Given the description of an element on the screen output the (x, y) to click on. 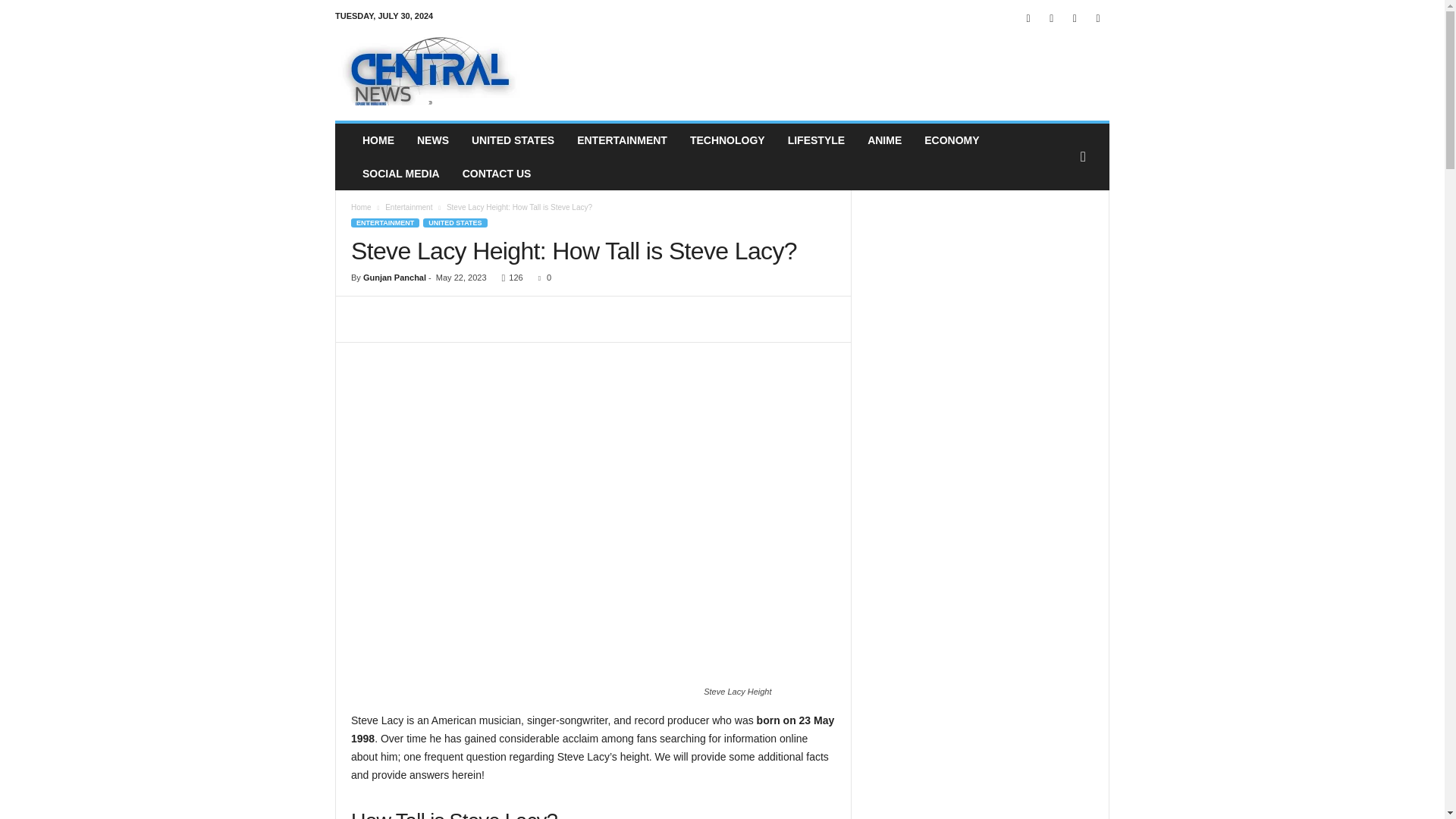
Centralfallout (437, 70)
Gunjan Panchal (394, 276)
NEWS (433, 140)
LIFESTYLE (816, 140)
CONTACT US (497, 173)
Home (360, 207)
HOME (378, 140)
TECHNOLOGY (727, 140)
ENTERTAINMENT (384, 222)
SOCIAL MEDIA (400, 173)
UNITED STATES (454, 222)
ENTERTAINMENT (622, 140)
UNITED STATES (513, 140)
ANIME (884, 140)
ECONOMY (951, 140)
